Given the description of an element on the screen output the (x, y) to click on. 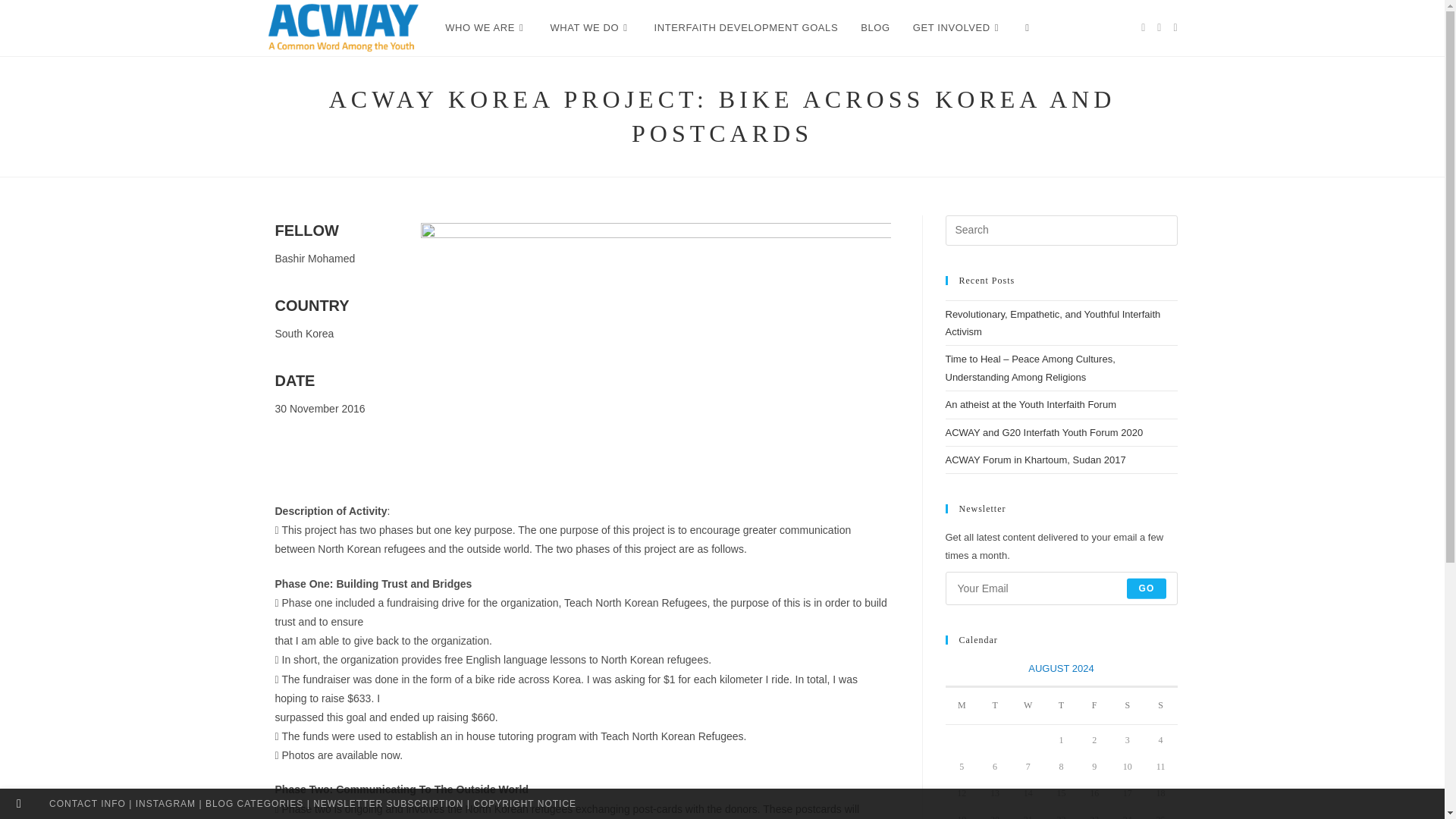
BLOG (874, 28)
Thursday (1061, 705)
Tuesday (994, 705)
Saturday (1127, 705)
Friday (1093, 705)
Sunday (1160, 705)
Wednesday (1028, 705)
GET INVOLVED (957, 28)
WHAT WE DO (590, 28)
INTERFAITH DEVELOPMENT GOALS (746, 28)
